Given the description of an element on the screen output the (x, y) to click on. 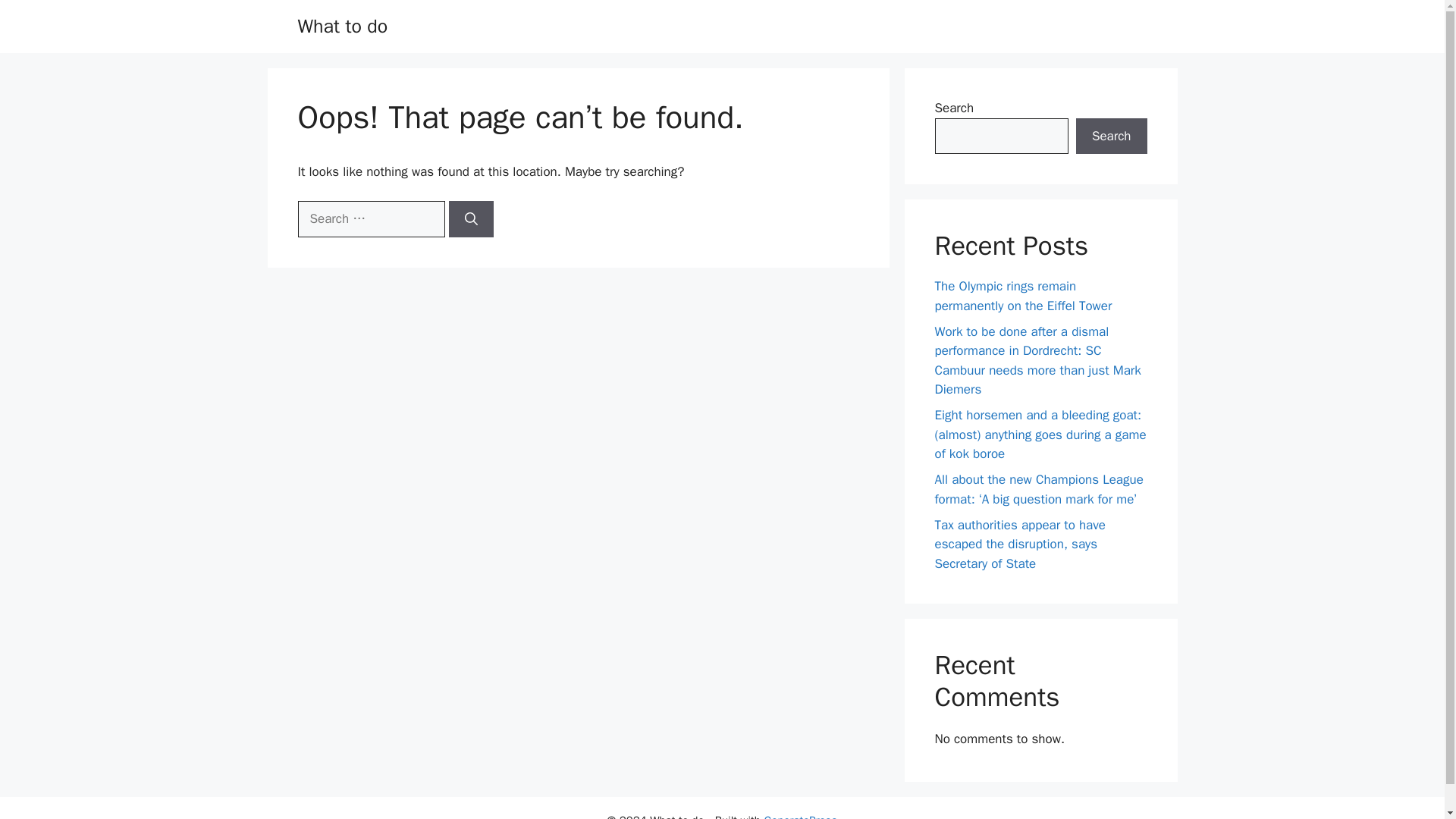
GeneratePress (799, 816)
Search (1111, 135)
Search for: (370, 218)
The Olympic rings remain permanently on the Eiffel Tower (1023, 295)
What to do (342, 25)
